Given the description of an element on the screen output the (x, y) to click on. 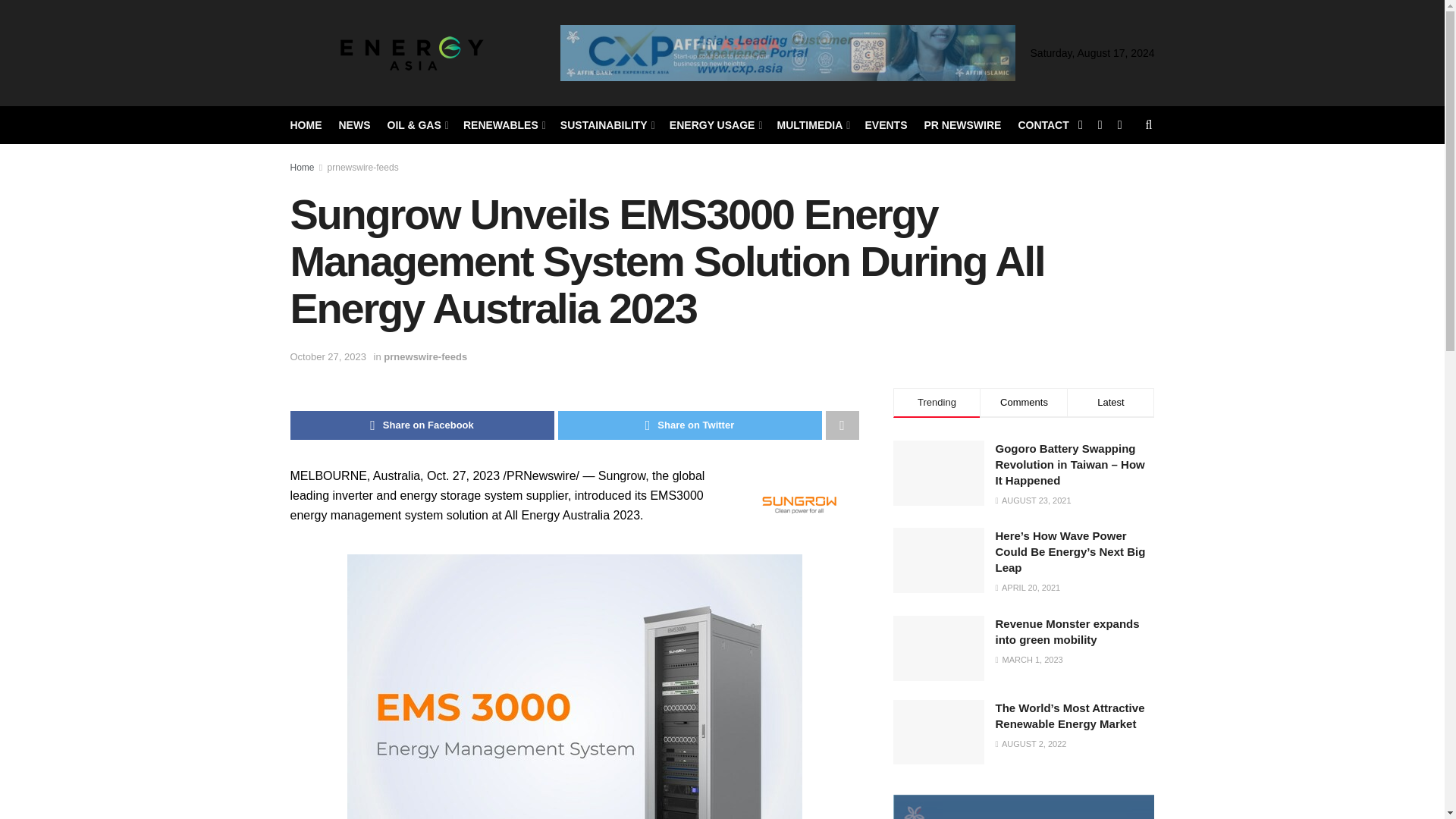
Next (996, 48)
PR NEWSWIRE (962, 125)
SUSTAINABILITY (606, 125)
CONTACT (1042, 125)
EVENTS (885, 125)
Previous (579, 48)
RENEWABLES (503, 125)
ENERGY USAGE (714, 125)
MULTIMEDIA (812, 125)
